Given the description of an element on the screen output the (x, y) to click on. 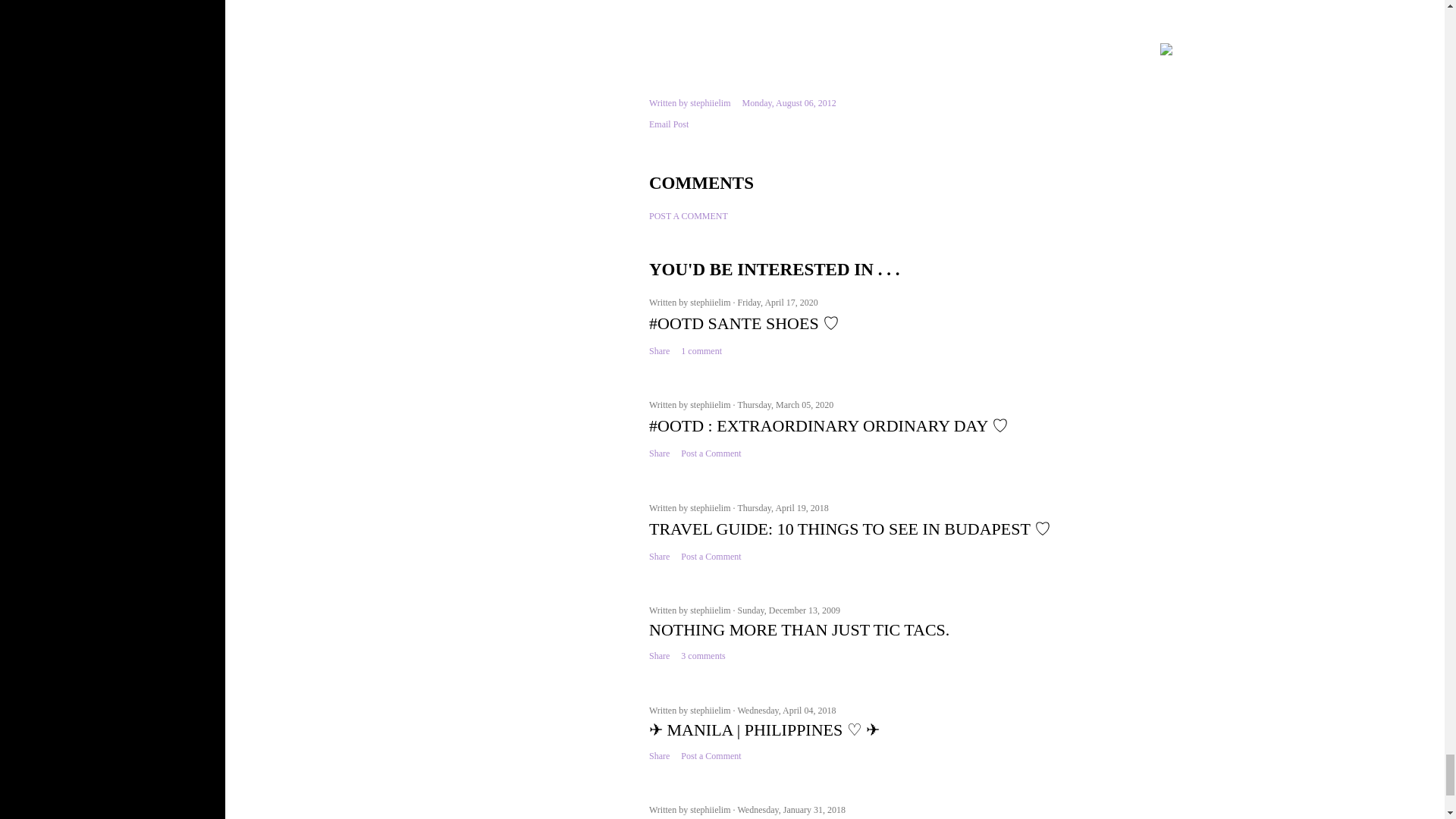
author profile (711, 302)
permanent link (788, 102)
author profile (710, 102)
